Given the description of an element on the screen output the (x, y) to click on. 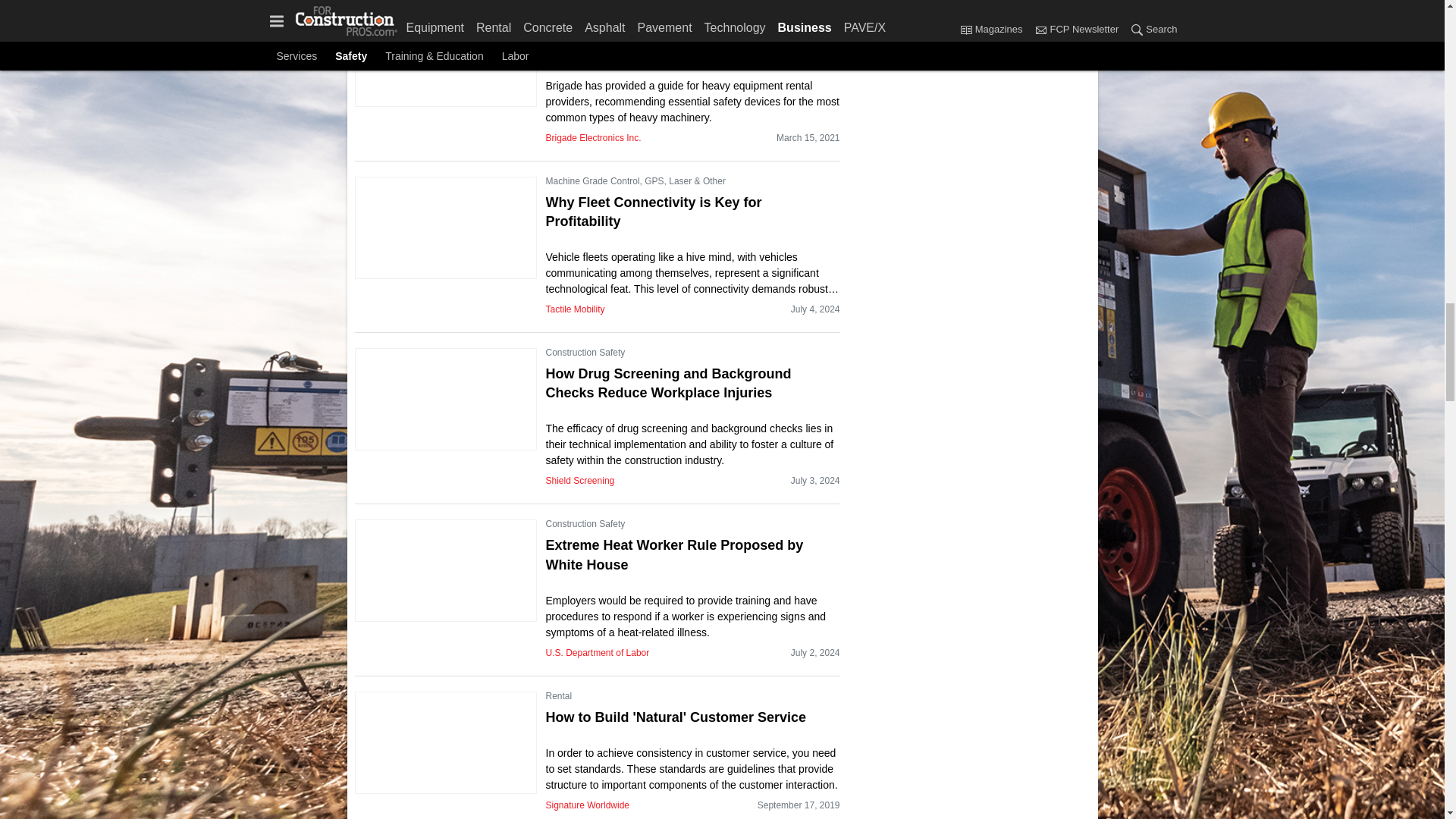
Twitter X icon (911, 9)
Flipboard icon (870, 34)
LinkedIn icon (996, 9)
Facebook icon (870, 9)
YouTube icon (1037, 9)
Instagram icon (955, 9)
